Given the description of an element on the screen output the (x, y) to click on. 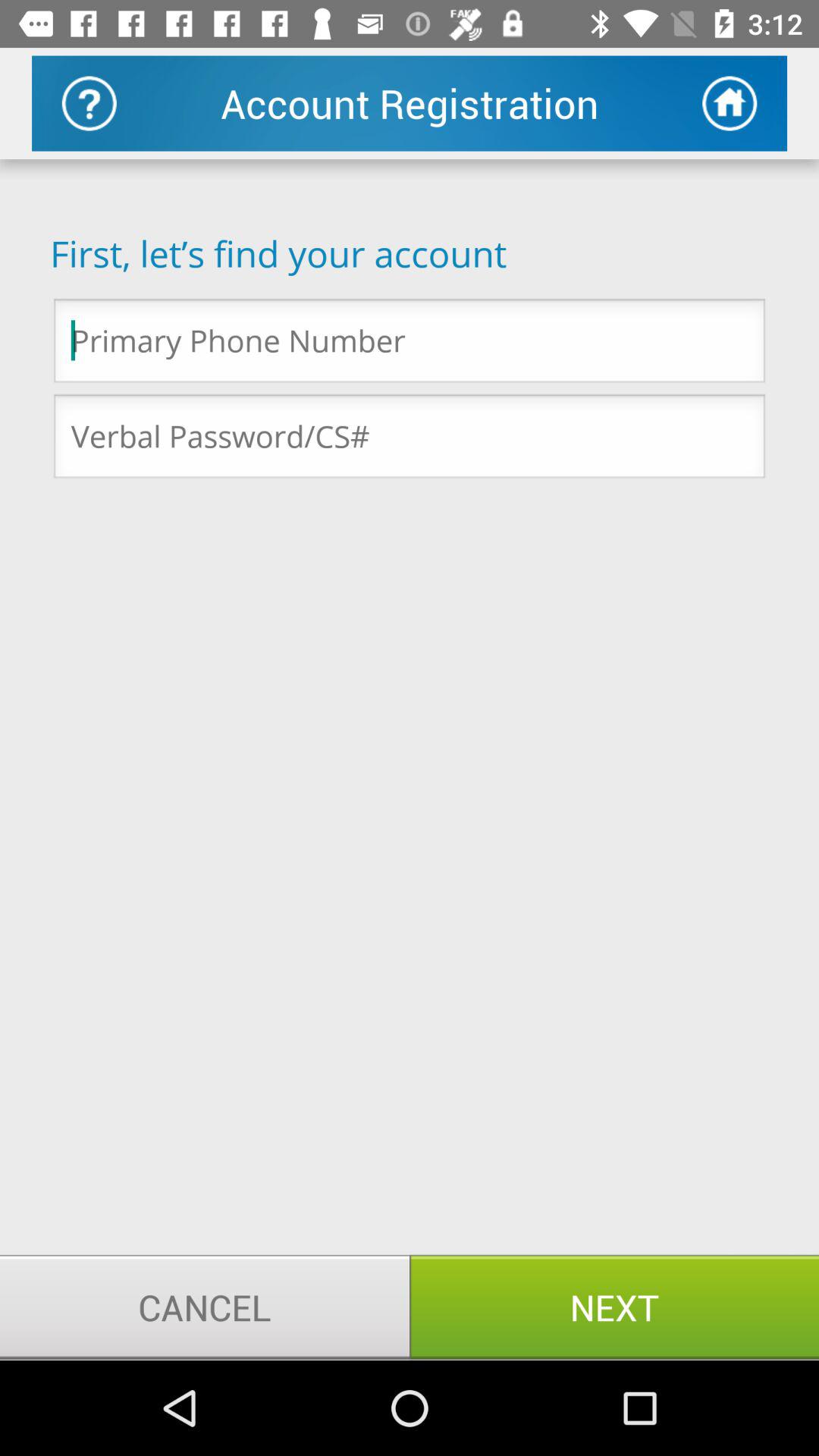
choose the icon next to the next icon (204, 1307)
